Given the description of an element on the screen output the (x, y) to click on. 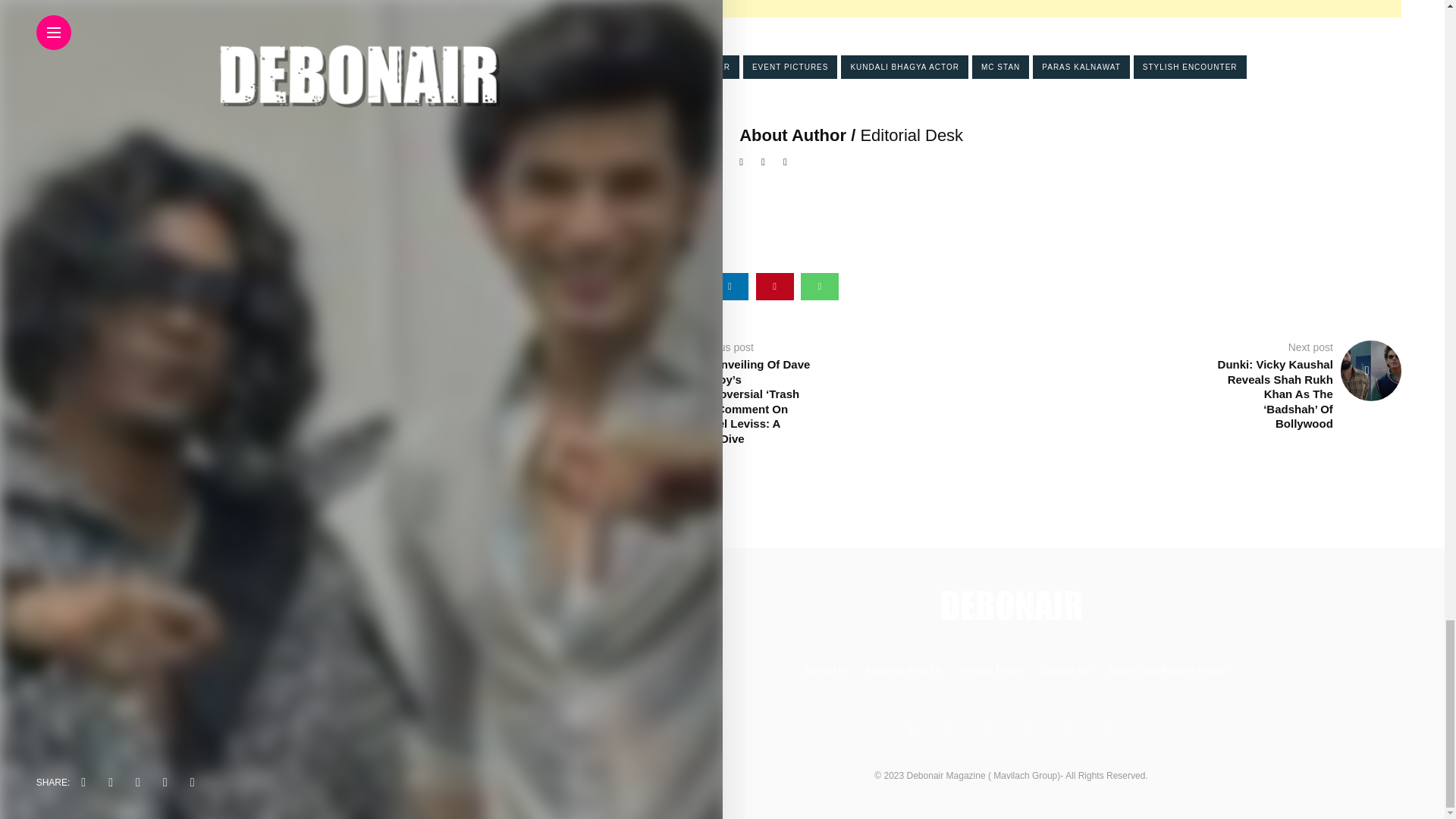
EVENT PICTURES (790, 66)
facebook (640, 286)
BIGG BOSS 16 WINNER (680, 66)
Posts by Editorial Desk (911, 135)
